Given the description of an element on the screen output the (x, y) to click on. 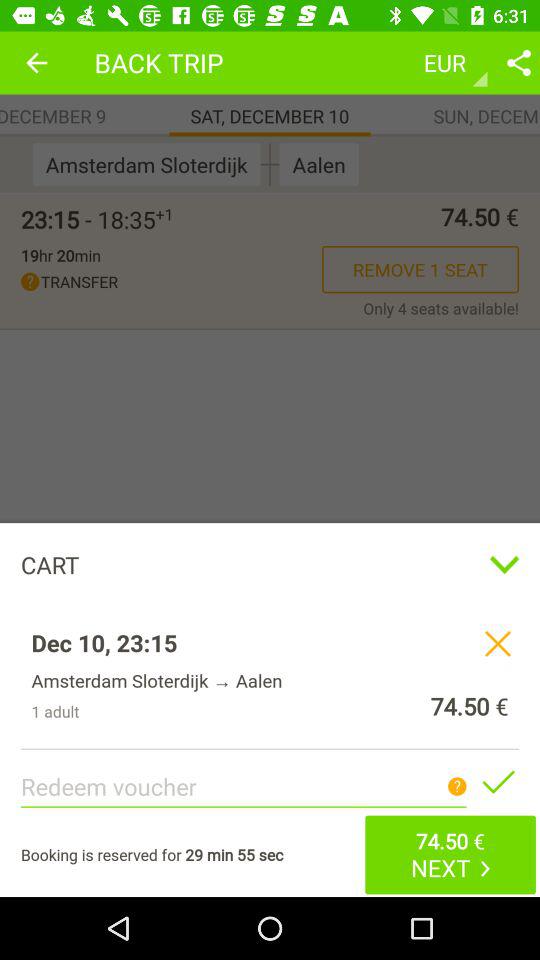
confirm the redeem voucher code (498, 781)
